Given the description of an element on the screen output the (x, y) to click on. 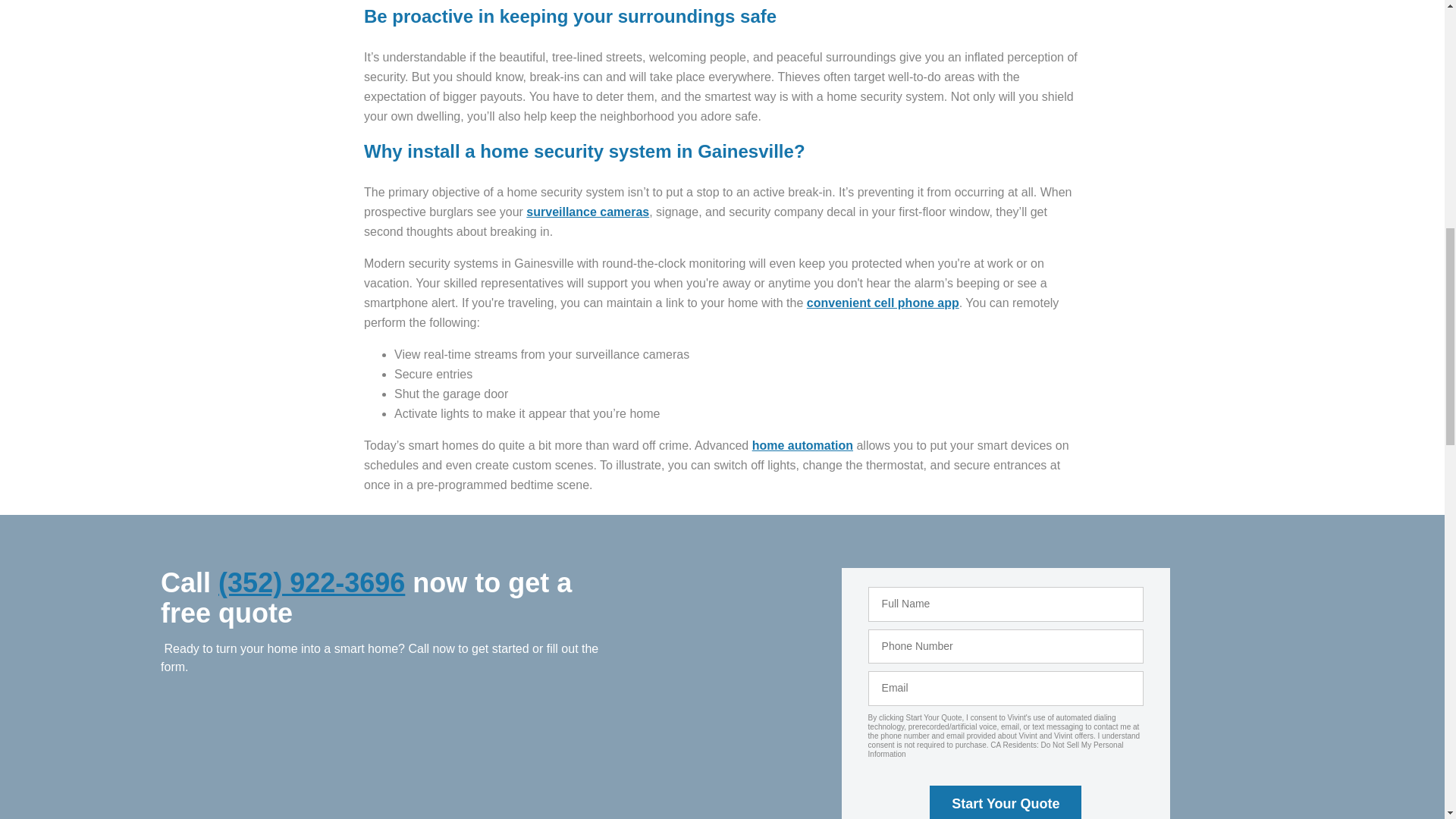
convenient cell phone app (882, 302)
home automation (802, 445)
Surveillance cameras (587, 211)
Convenient smartphone app (882, 302)
Start Your Quote (1005, 802)
Start Your Quote (1005, 802)
Home automation (802, 445)
surveillance cameras (587, 211)
